Given the description of an element on the screen output the (x, y) to click on. 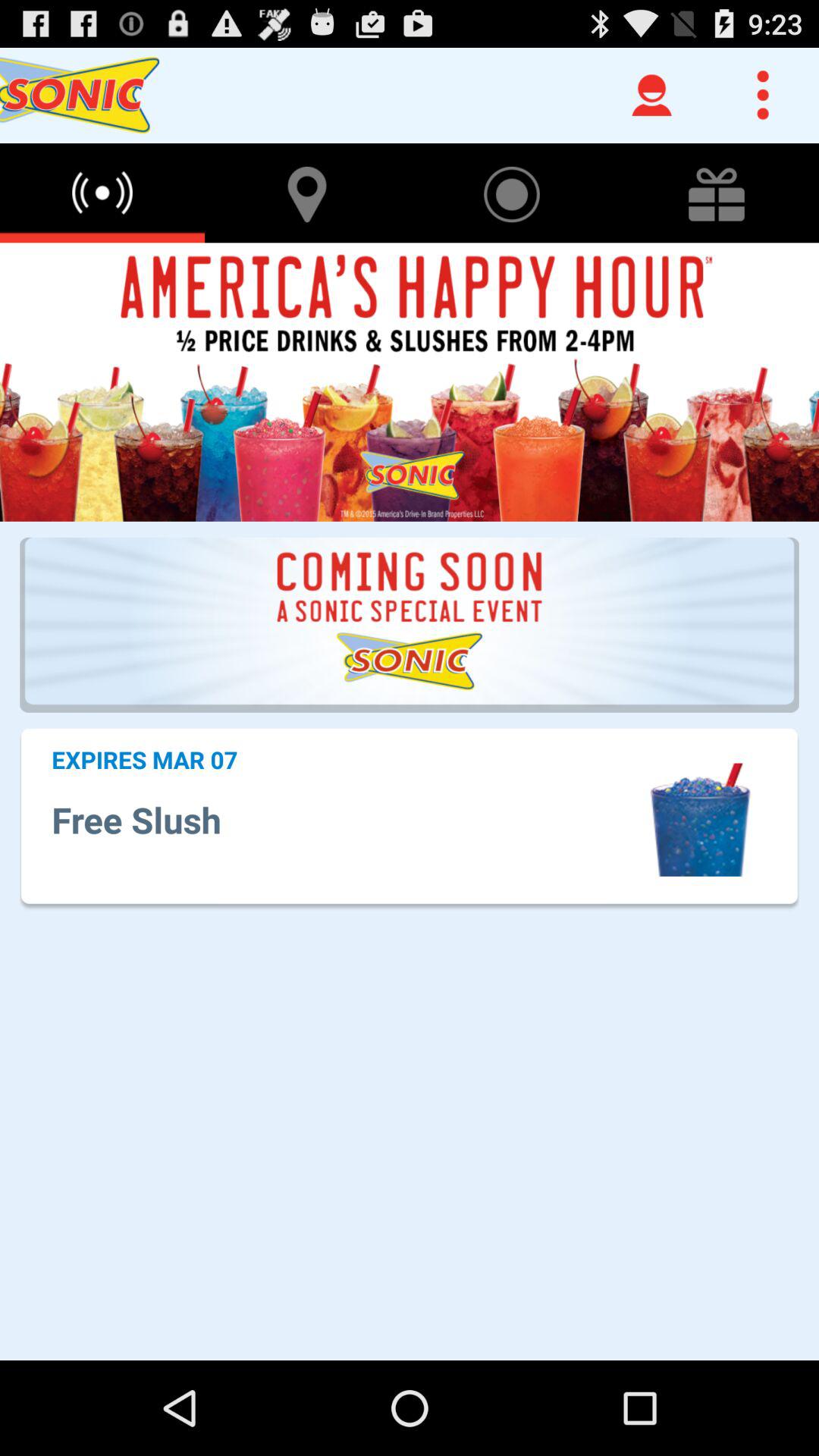
jump to the free slush app (346, 819)
